Given the description of an element on the screen output the (x, y) to click on. 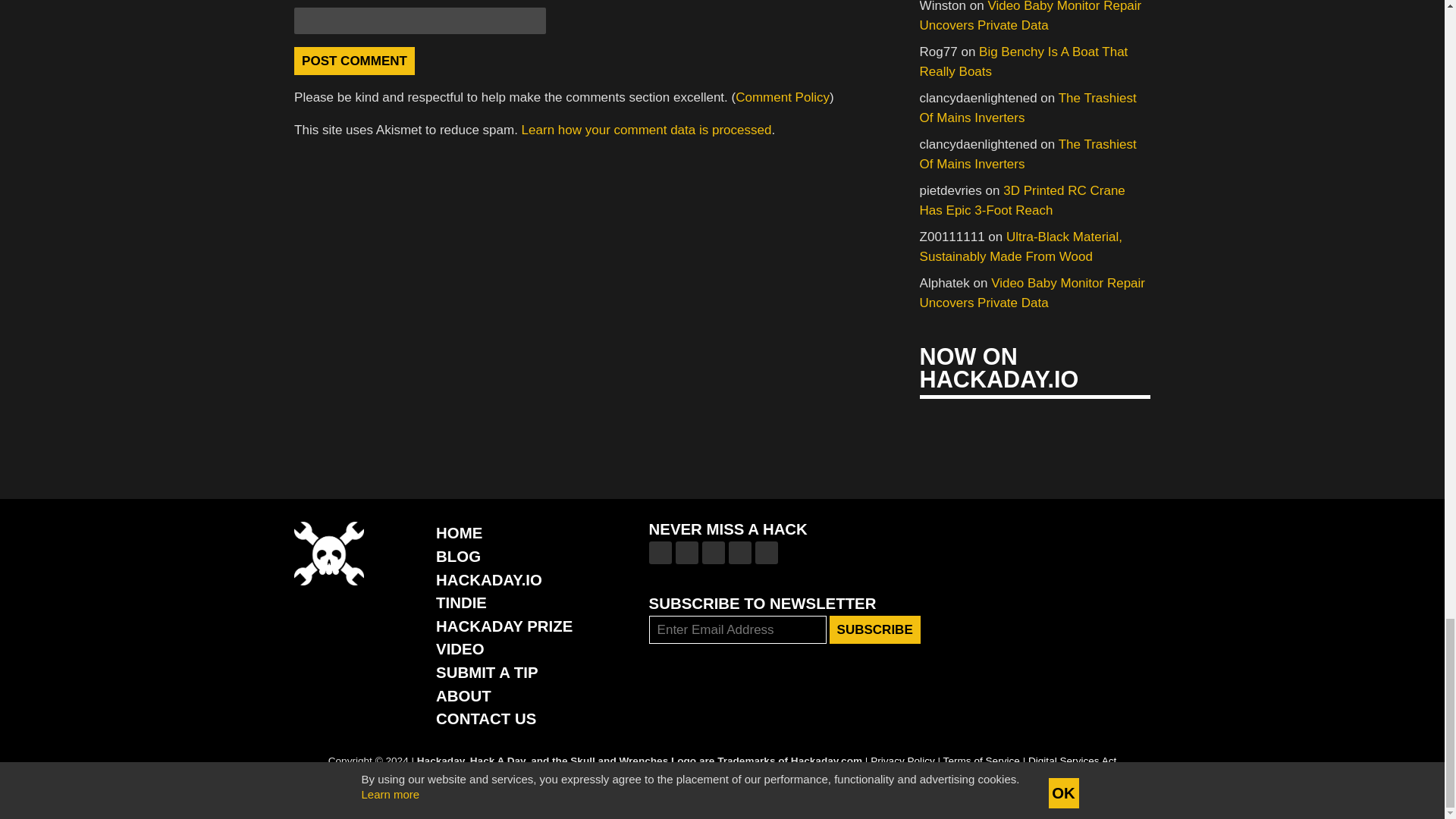
Subscribe (874, 629)
Post Comment (354, 60)
Build Something that Matters (503, 626)
